Given the description of an element on the screen output the (x, y) to click on. 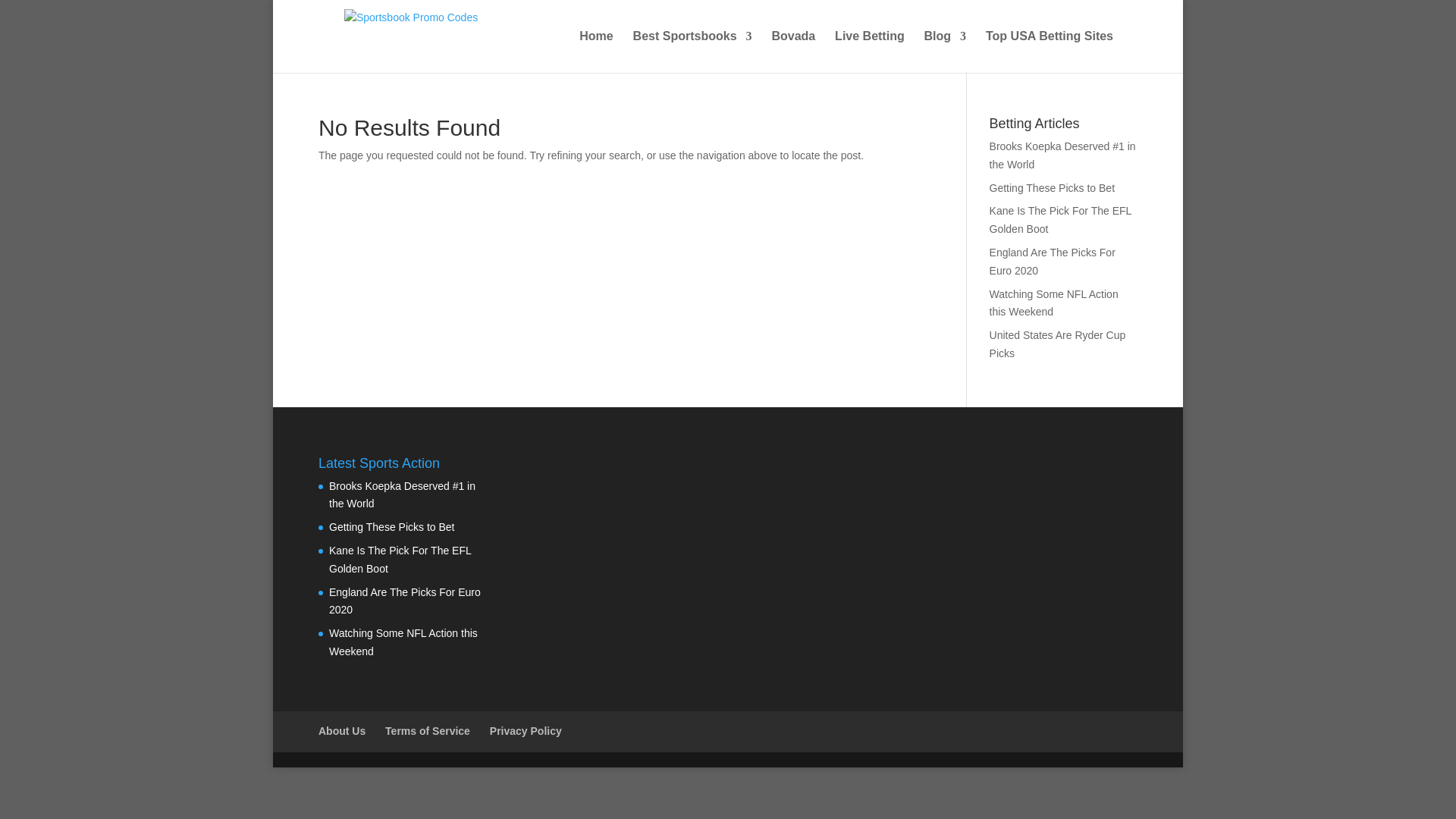
Getting These Picks to Bet (1052, 187)
England Are The Picks For Euro 2020 (404, 601)
England Are The Picks For Euro 2020 (1052, 261)
Kane Is The Pick For The EFL Golden Boot (1060, 219)
Privacy Policy (525, 730)
United States Are Ryder Cup Picks (1057, 344)
Bovada (793, 51)
Blog (945, 51)
About Us (341, 730)
Watching Some NFL Action this Weekend (1054, 303)
